Given the description of an element on the screen output the (x, y) to click on. 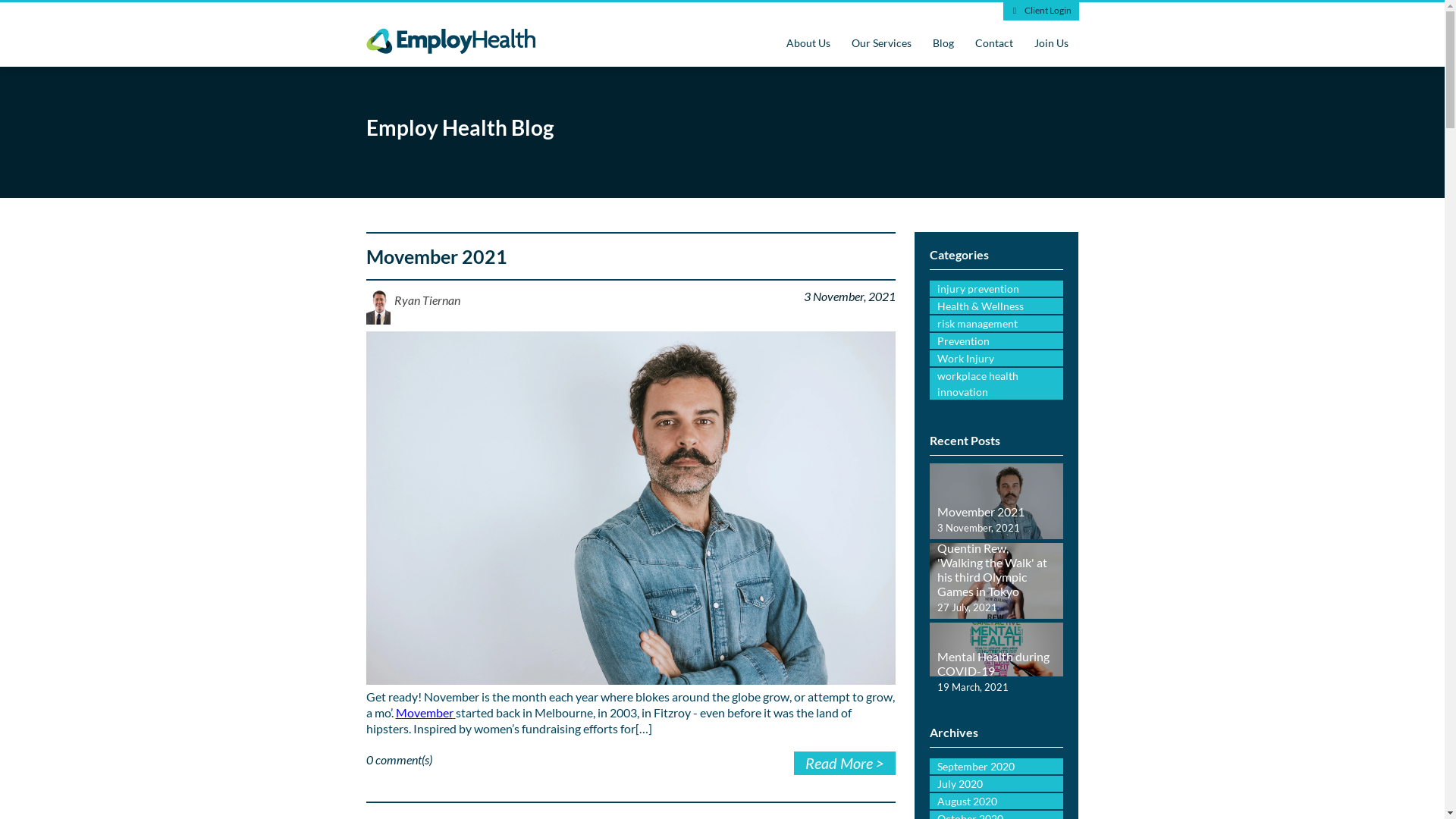
Employ Health Element type: hover (449, 46)
Movember 2021 Element type: text (980, 511)
0 comment(s) Element type: text (398, 759)
Contact Element type: text (993, 43)
risk management Element type: text (996, 323)
August 2020 Element type: text (996, 801)
Work Injury Element type: text (996, 358)
Our Services Element type: text (881, 43)
Mental Health during COVID-19 Element type: text (993, 663)
Mental Health during COVID-19 Element type: hover (996, 649)
Health & Wellness Element type: text (996, 305)
Movember 2021 Element type: text (435, 255)
Movember 2021 Element type: hover (996, 507)
Join Us Element type: text (1051, 43)
workplace health innovation Element type: text (996, 383)
July 2020 Element type: text (996, 783)
injury prevention Element type: text (996, 288)
About Us Element type: text (808, 43)
Client Login Element type: text (1040, 11)
Prevention Element type: text (996, 340)
Movember Element type: text (424, 712)
Read More > Element type: text (844, 763)
Blog Element type: text (942, 43)
September 2020 Element type: text (996, 766)
